Given the description of an element on the screen output the (x, y) to click on. 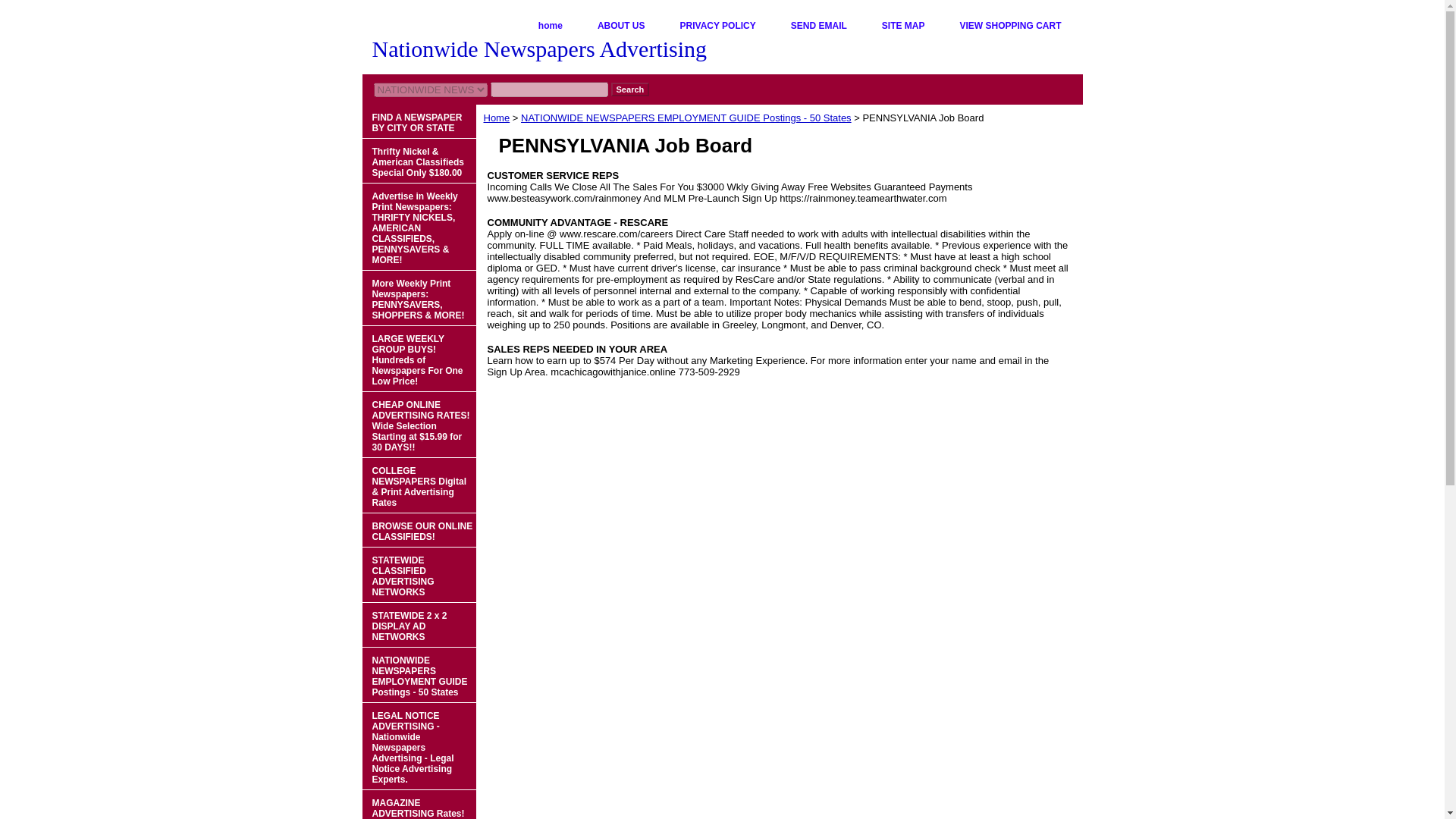
STATEWIDE CLASSIFIED ADVERTISING NETWORKS (419, 574)
Nationwide Newspapers Advertising (551, 51)
NATIONWIDE NEWSPAPERS EMPLOYMENT GUIDE Postings - 50 States (686, 117)
NATIONWIDE NEWSPAPERS EMPLOYMENT GUIDE Postings - 50 States (419, 674)
FIND A NEWSPAPER BY CITY OR STATE (419, 121)
STATEWIDE 2 x 2 DISPLAY AD NETWORKS (419, 624)
MAGAZINE  ADVERTISING Rates! (419, 804)
Nationwide Newspapers Advertising (551, 51)
ABOUT US (621, 26)
Search (630, 89)
PRIVACY POLICY (718, 26)
NATIONWIDE NEWSPAPERS EMPLOYMENT GUIDE Postings - 50 States (419, 674)
